Given the description of an element on the screen output the (x, y) to click on. 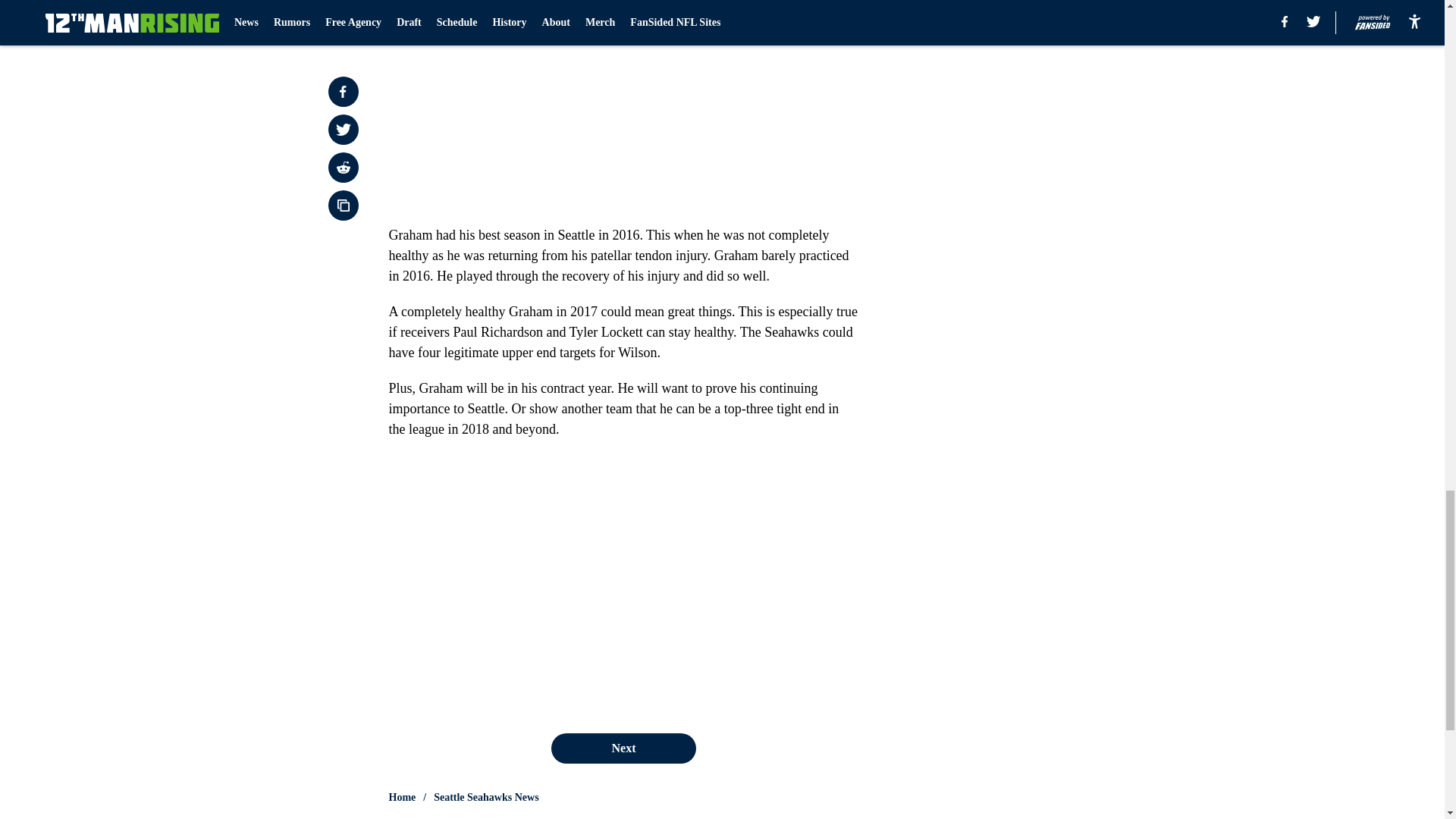
Next (622, 748)
Home (401, 797)
Seattle Seahawks News (485, 797)
